Given the description of an element on the screen output the (x, y) to click on. 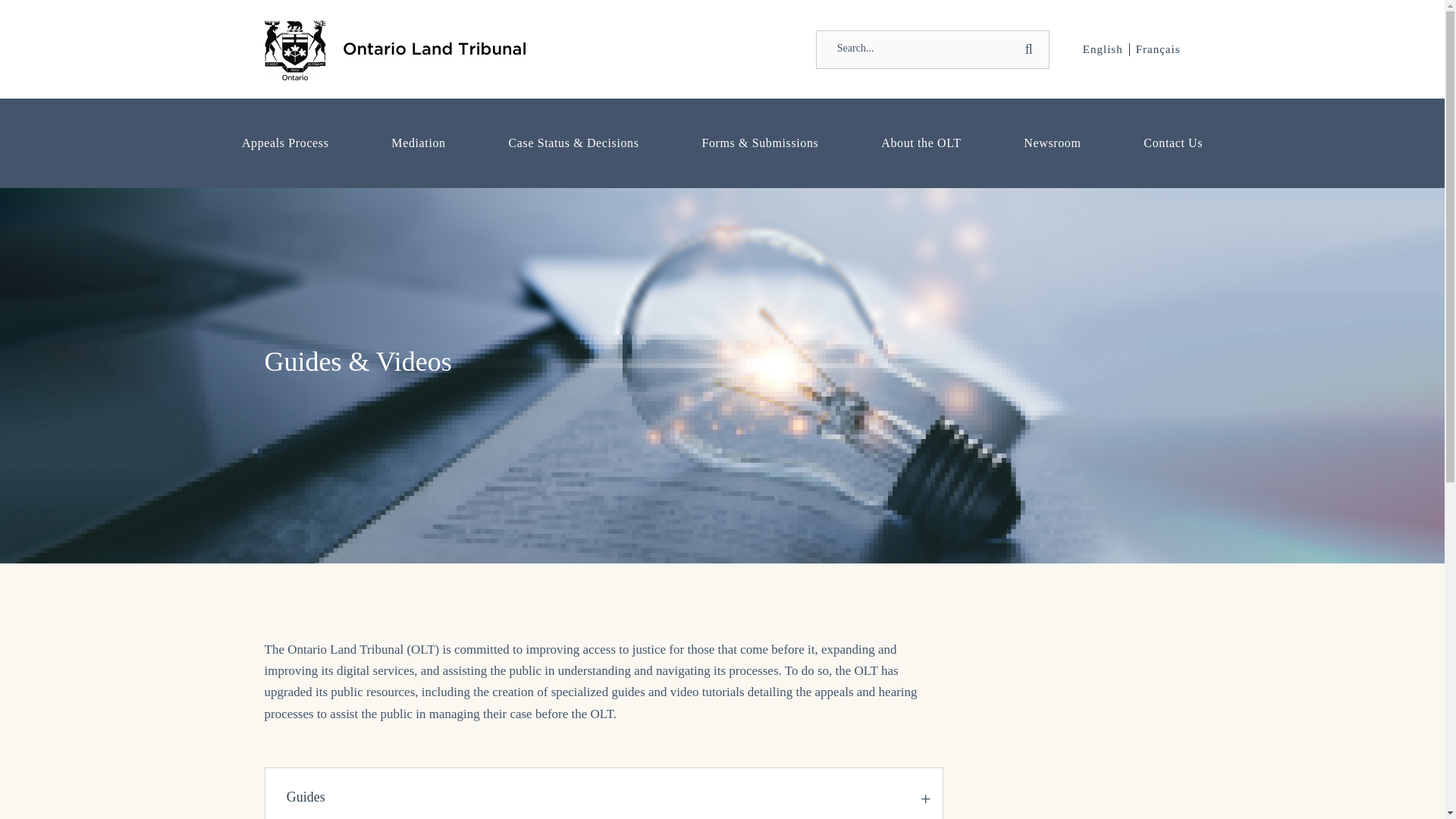
Appeals Process (285, 143)
About the OLT (921, 143)
Contact Us (1173, 143)
Newsroom (1052, 143)
English (1102, 49)
Mediation (418, 143)
English (1102, 49)
